Given the description of an element on the screen output the (x, y) to click on. 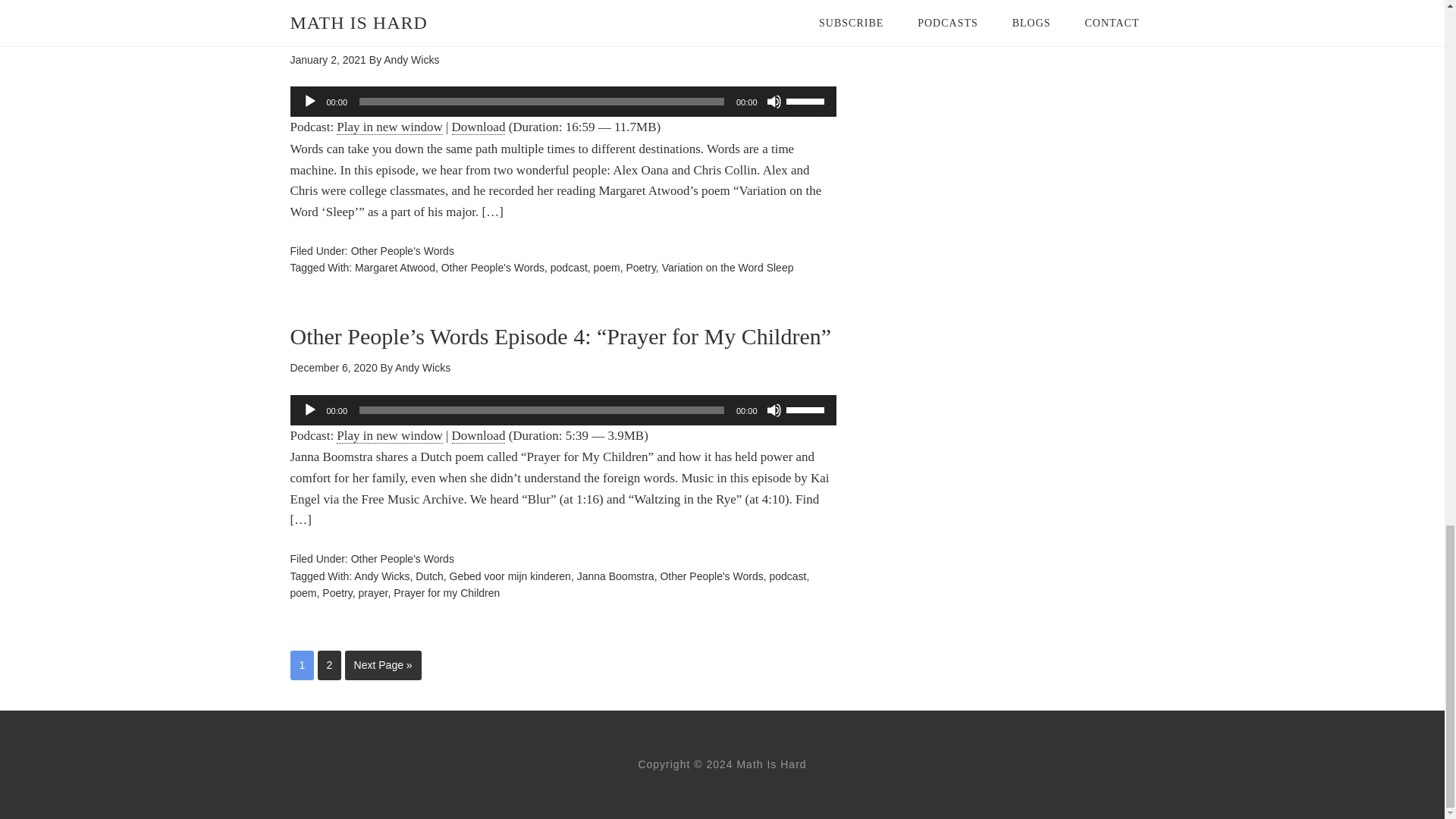
Play (309, 101)
Mute (772, 101)
